Given the description of an element on the screen output the (x, y) to click on. 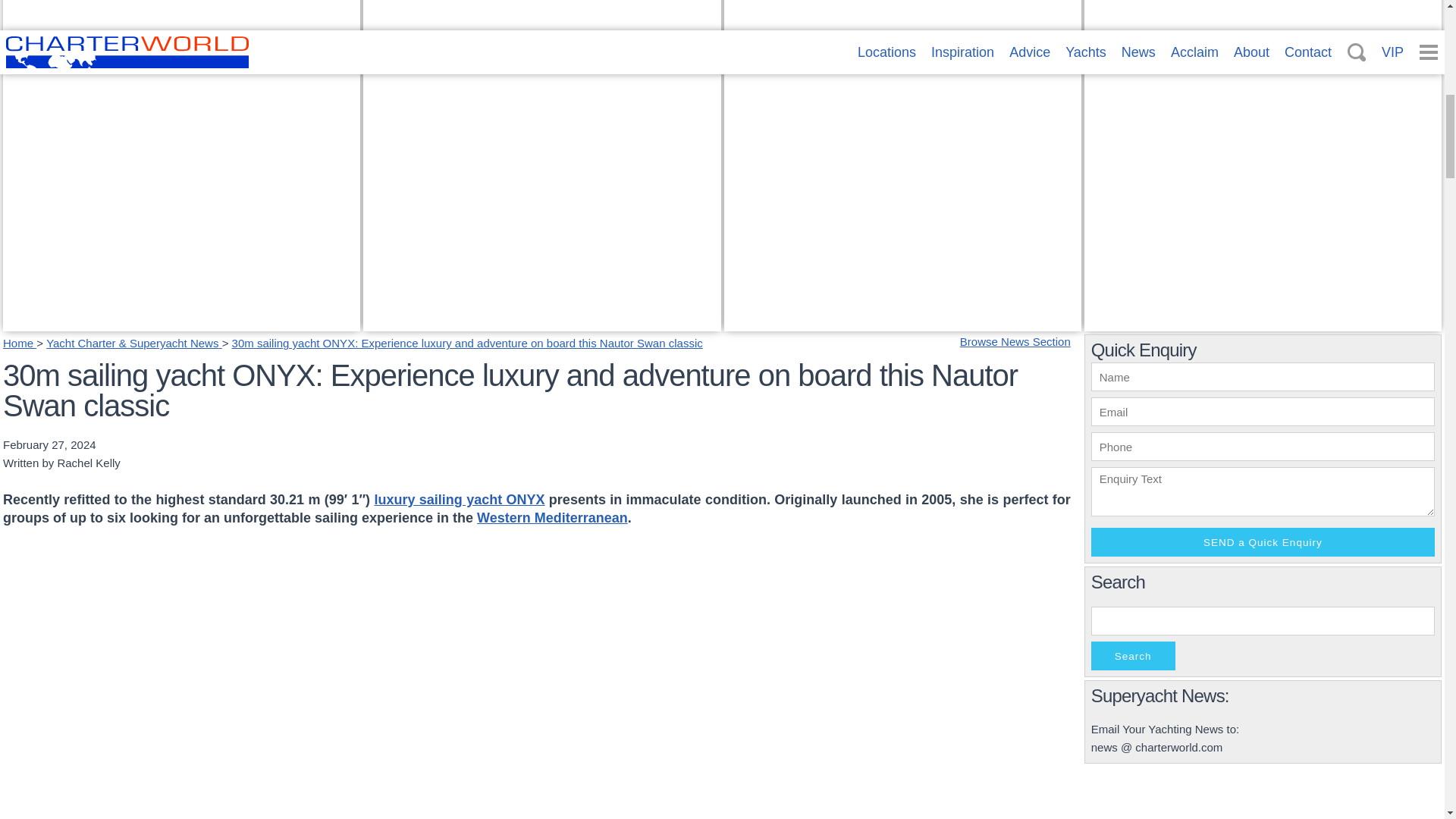
Western Mediterranean (552, 517)
luxury sailing yacht ONYX (459, 499)
Home (19, 342)
SEND a Quick Enquiry (1262, 541)
Browse News Section (1014, 341)
